Given the description of an element on the screen output the (x, y) to click on. 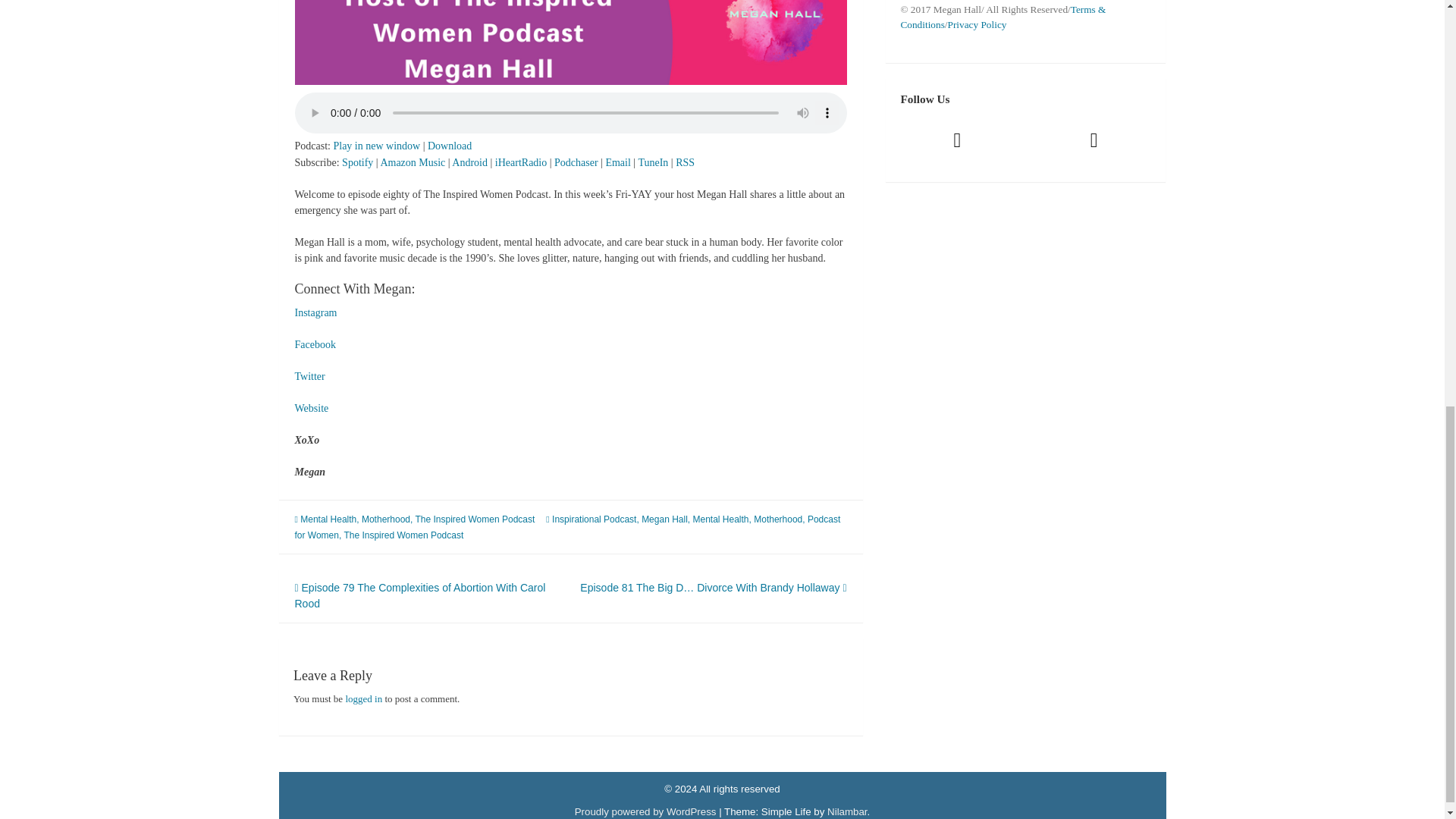
The Inspired Women Podcast (403, 534)
Android (469, 162)
Episode 79 The Complexities of Abortion With Carol Rood (419, 595)
Download (449, 145)
RSS (684, 162)
Twitter (309, 376)
Instagram (315, 312)
Subscribe by Email (617, 162)
Subscribe on Podchaser (576, 162)
Subscribe on Spotify (357, 162)
Motherhood (778, 519)
Website (311, 408)
Subscribe on iHeartRadio (521, 162)
TuneIn (652, 162)
Facebook (314, 344)
